Given the description of an element on the screen output the (x, y) to click on. 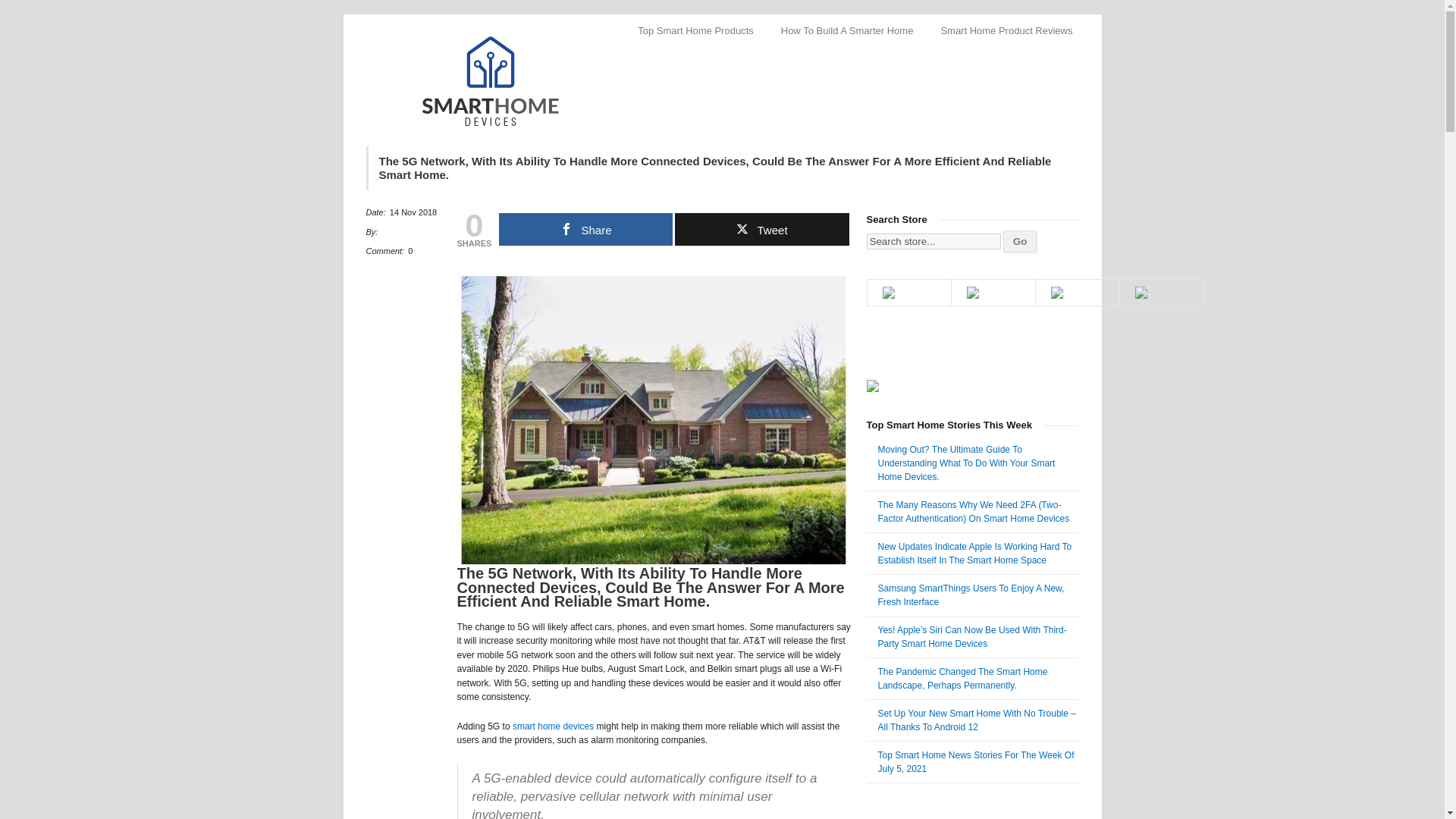
Share (585, 228)
Search store... (933, 241)
Tweet (761, 228)
Top Smart Home Products (695, 30)
How To Build A Smarter Home (847, 30)
Smart Home Product Reviews (1006, 30)
smart home devices (553, 726)
Go (1019, 241)
